Given the description of an element on the screen output the (x, y) to click on. 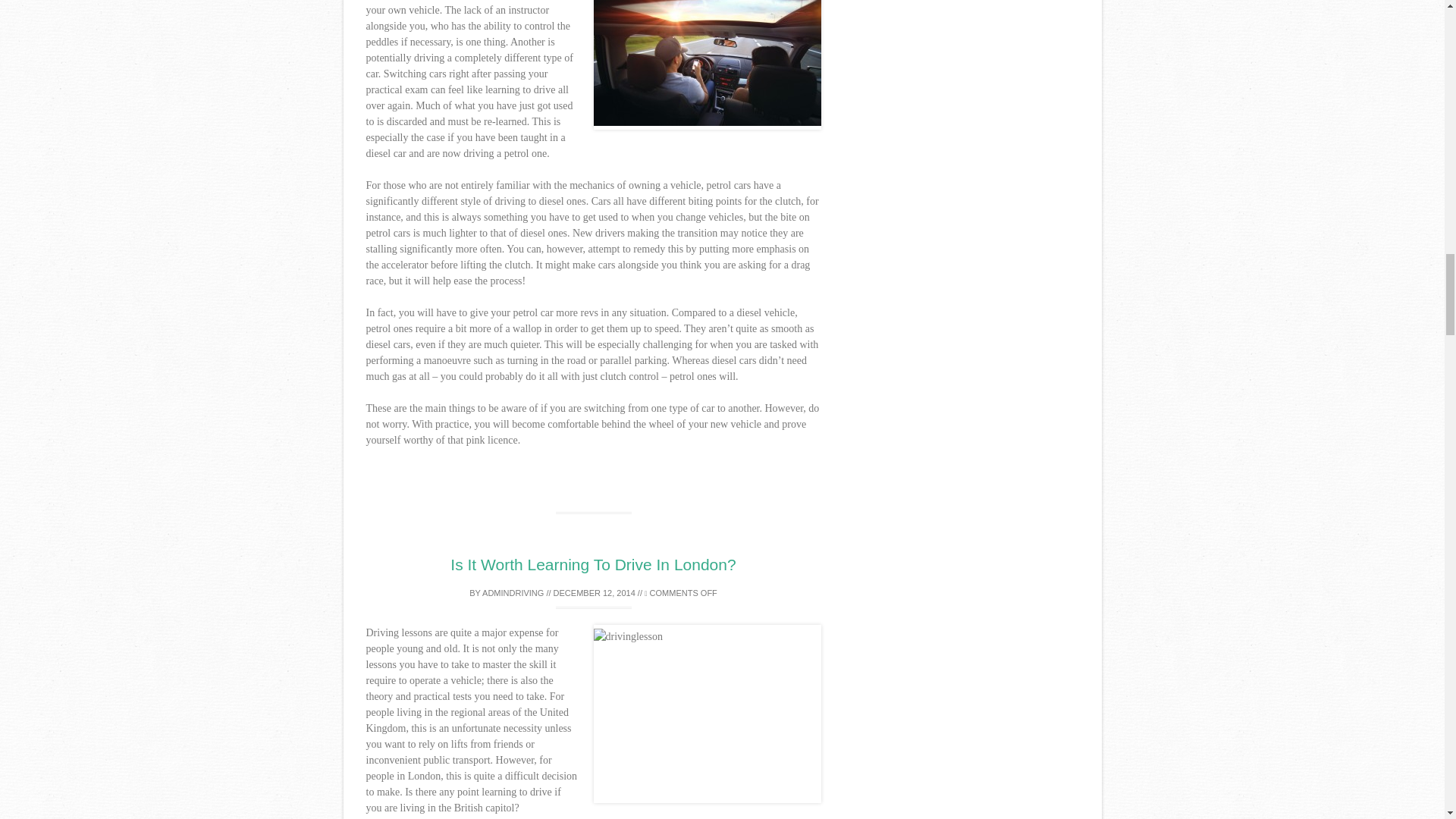
COMMENTS OFF (681, 592)
ADMINDRIVING (512, 592)
12:02 pm (593, 592)
DECEMBER 12, 2014 (593, 592)
Is It Worth Learning To Drive In London? (592, 564)
View all posts by admindriving (512, 592)
